Given the description of an element on the screen output the (x, y) to click on. 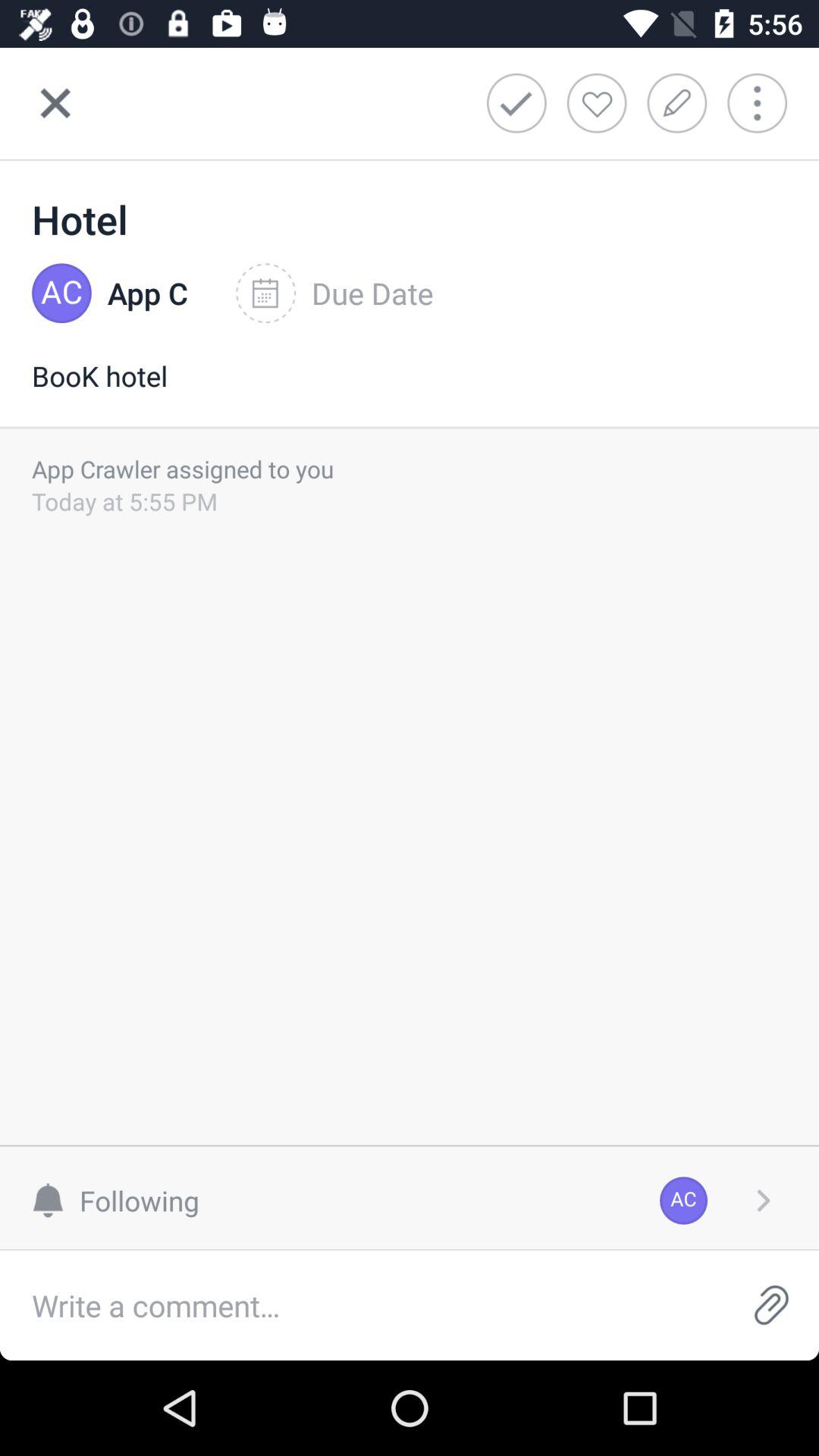
press the item next to ac (763, 1200)
